Given the description of an element on the screen output the (x, y) to click on. 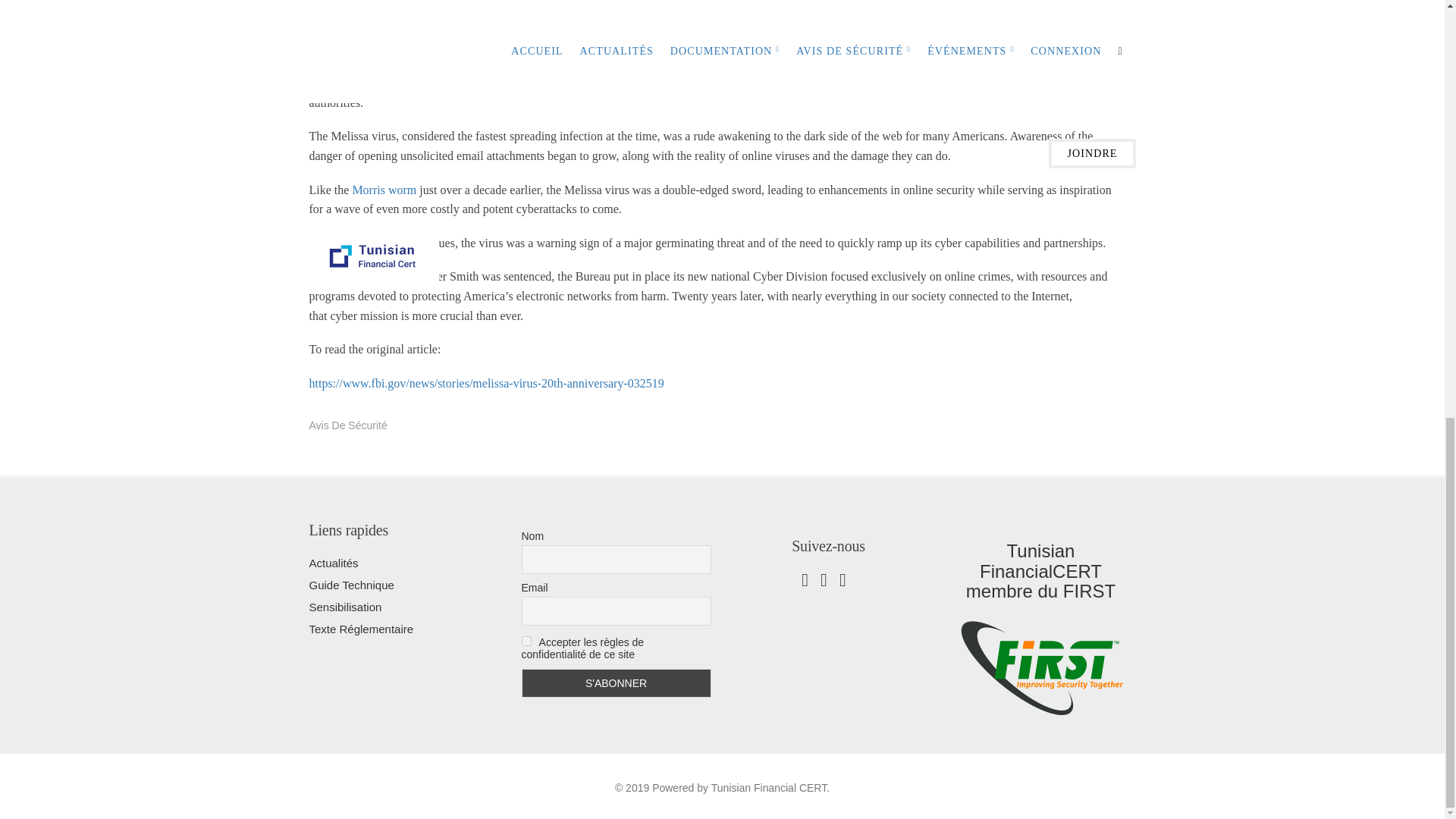
on (526, 641)
Tunisian FinancialCERT membre du FIRST (1040, 666)
S'ABONNER (616, 683)
